Given the description of an element on the screen output the (x, y) to click on. 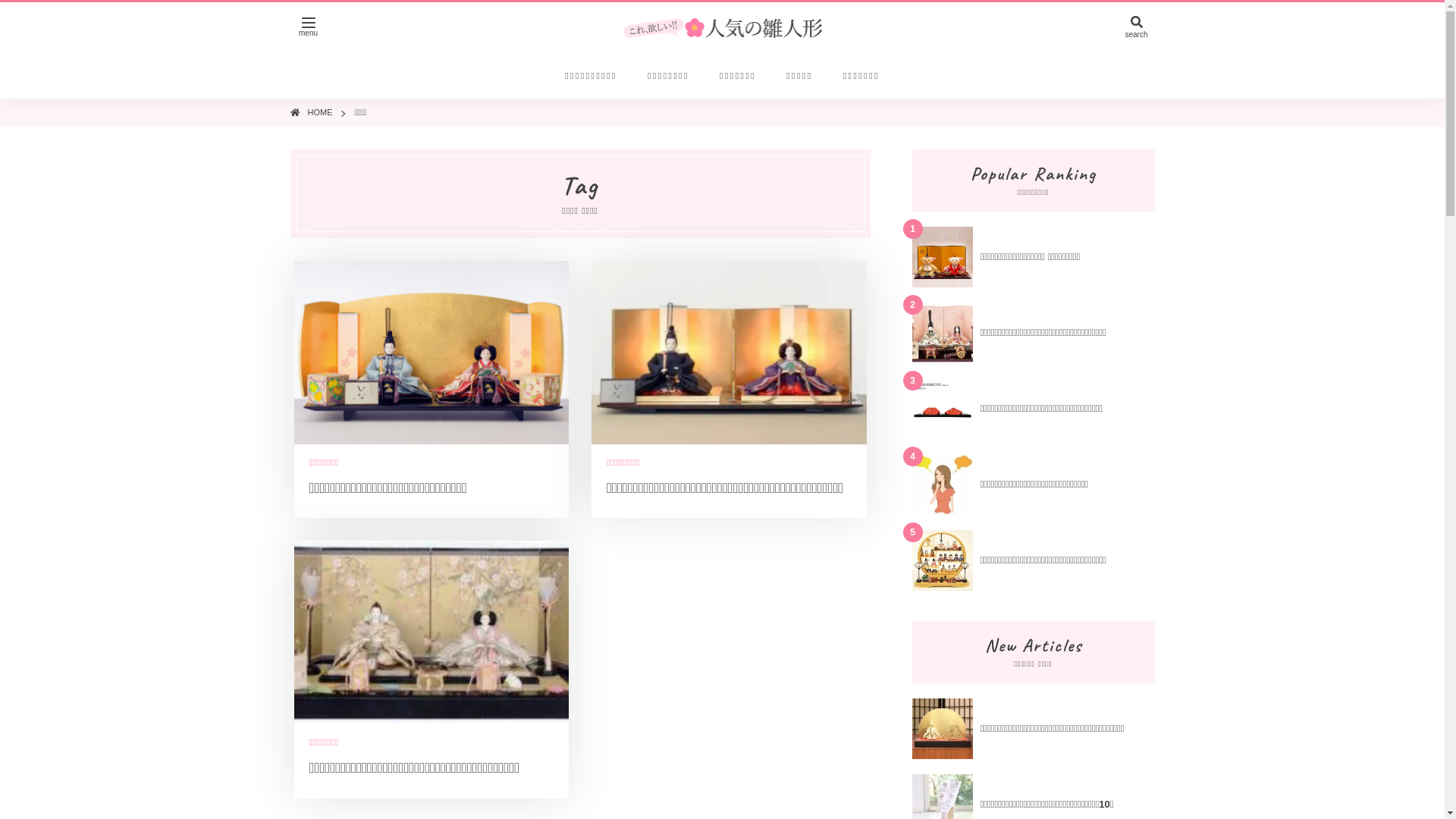
on Element type: text (4, 4)
HOME Element type: text (319, 111)
